Given the description of an element on the screen output the (x, y) to click on. 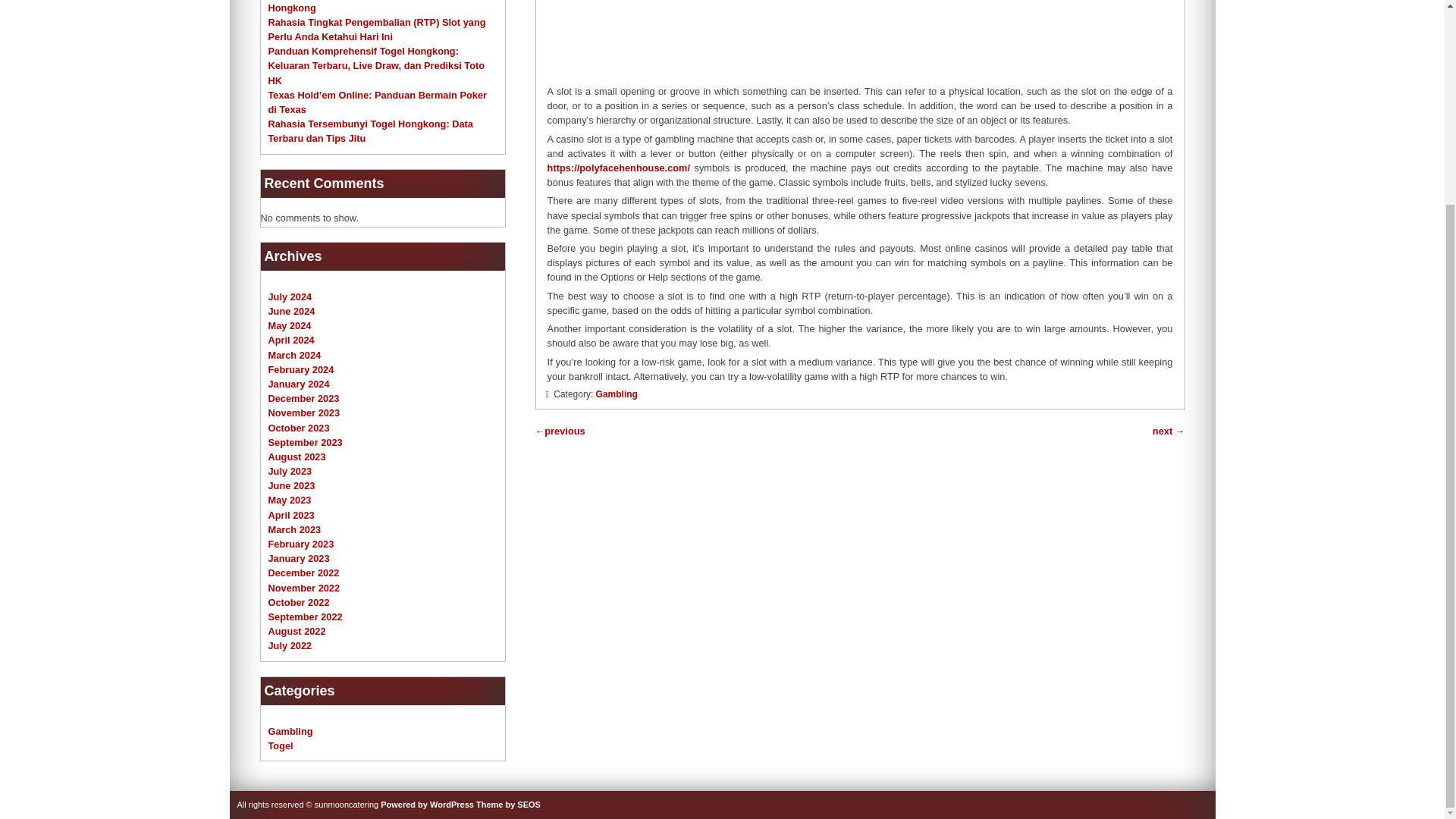
March 2023 (294, 529)
February 2023 (300, 543)
January 2023 (298, 558)
December 2023 (303, 398)
June 2023 (291, 485)
December 2022 (303, 572)
October 2022 (298, 602)
June 2024 (291, 310)
August 2023 (296, 456)
May 2024 (289, 325)
May 2023 (289, 500)
October 2023 (298, 428)
Seos free wordpress themes (508, 804)
January 2024 (298, 383)
